Given the description of an element on the screen output the (x, y) to click on. 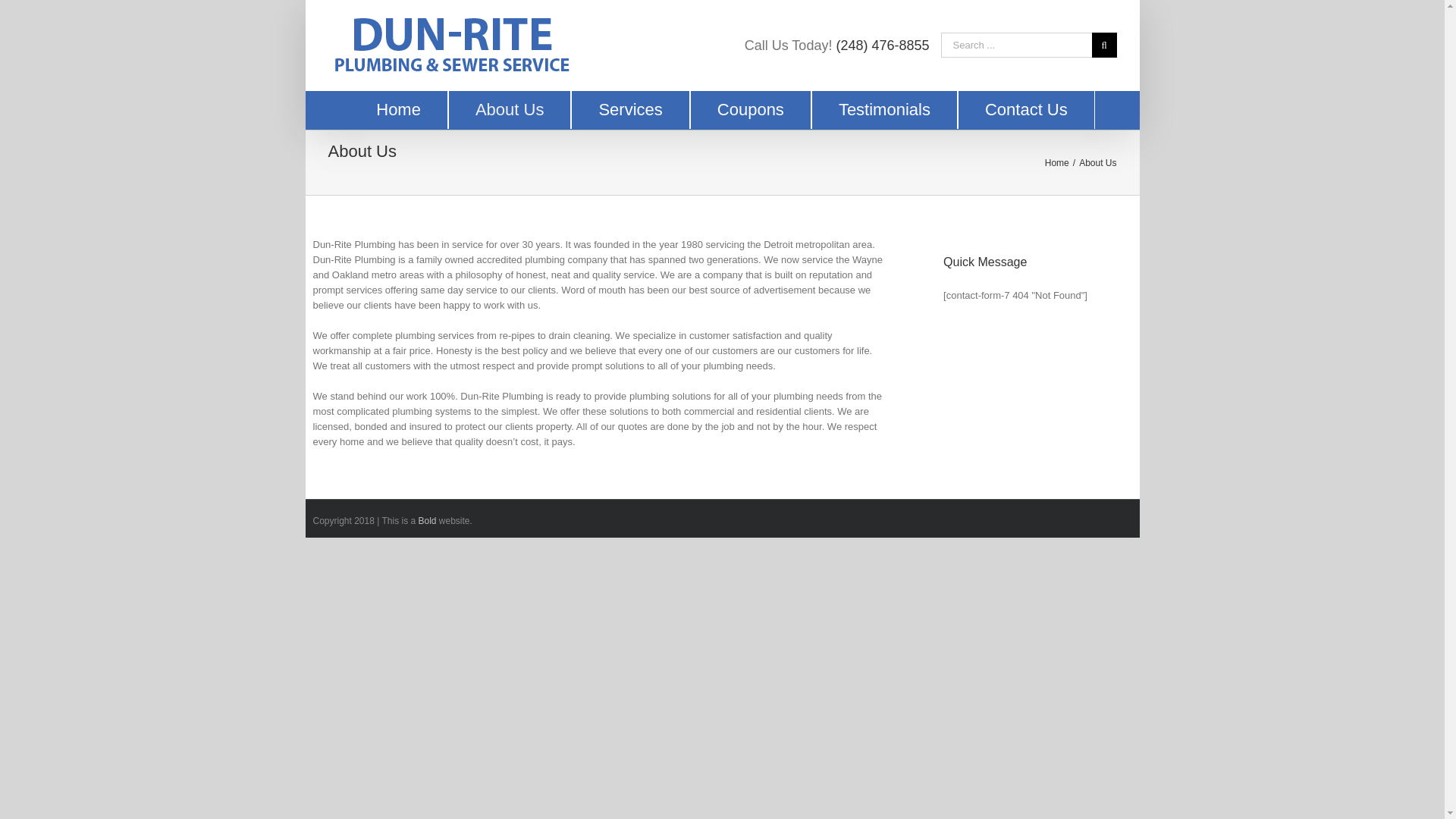
Contact Us (1026, 109)
Services (630, 109)
Coupons (750, 109)
Michigan Website Design Company (426, 520)
About Us (510, 109)
Testimonials (885, 109)
Home (1056, 163)
Home (398, 109)
Bold (426, 520)
